Given the description of an element on the screen output the (x, y) to click on. 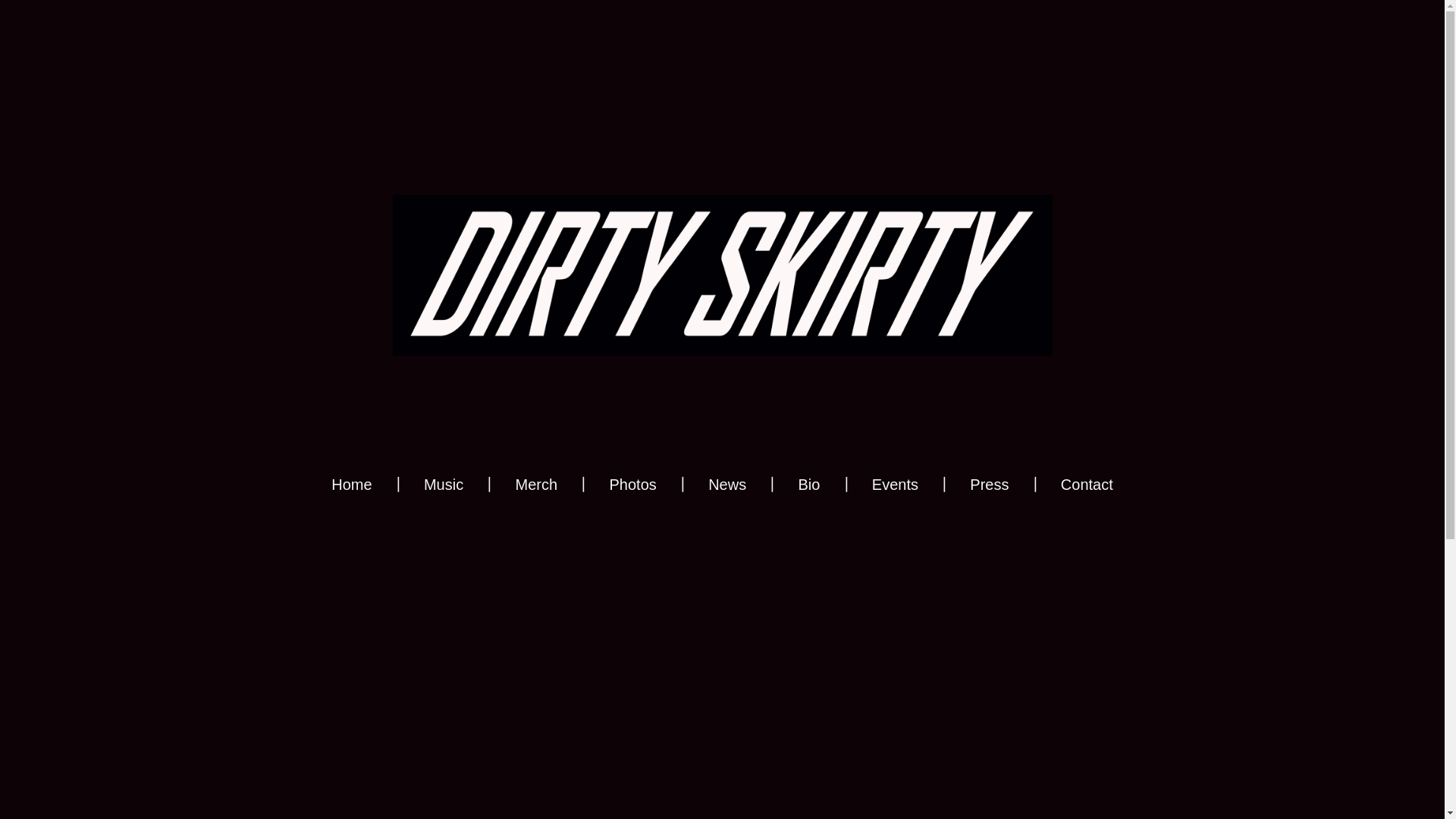
Events (895, 484)
Merch (536, 484)
Music (443, 484)
Contact (1087, 484)
Bio (809, 484)
Home (351, 484)
Press (989, 484)
Photos (633, 484)
News (726, 484)
